Given the description of an element on the screen output the (x, y) to click on. 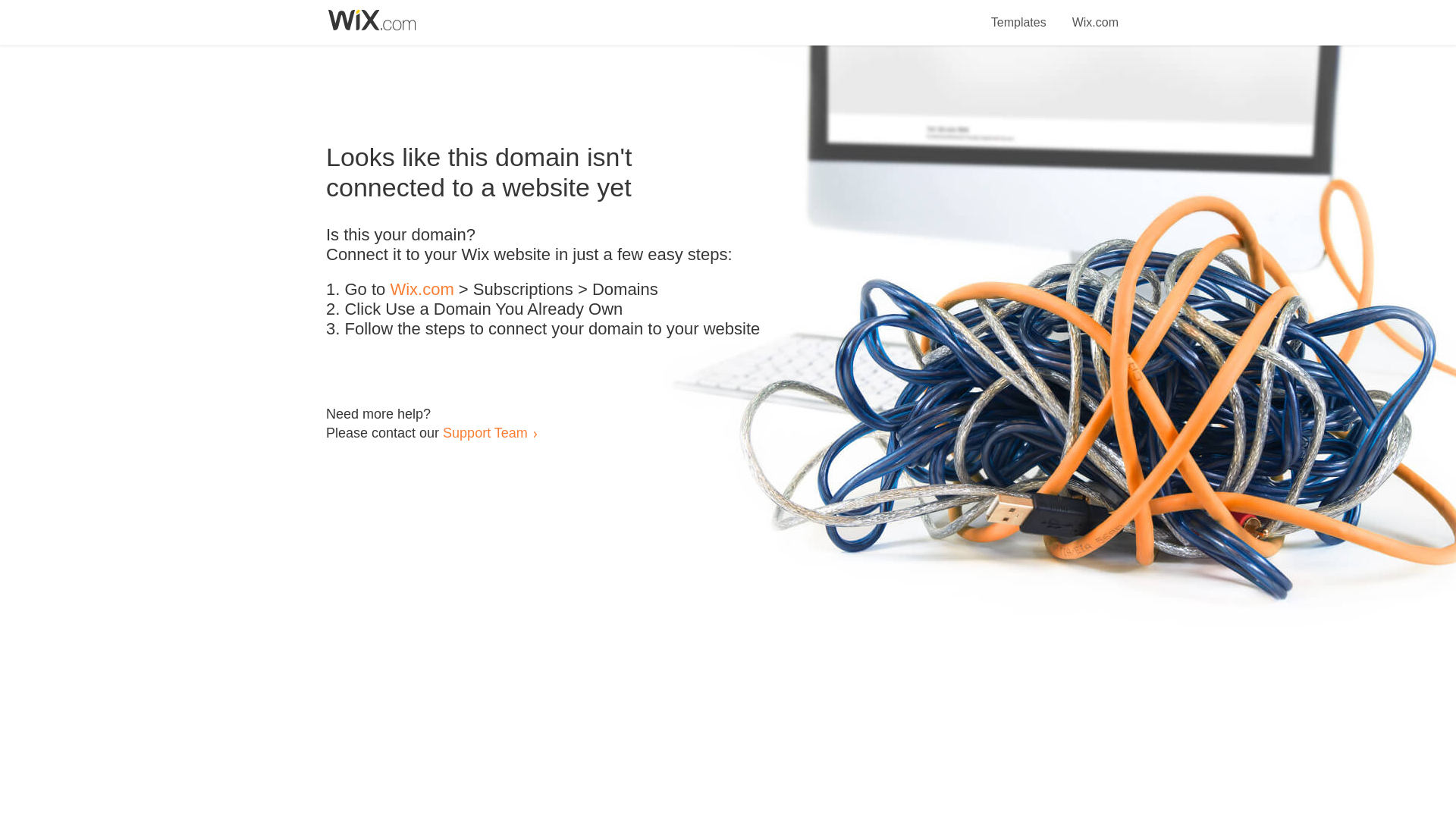
Templates (1018, 14)
Wix.com (421, 289)
Support Team (484, 432)
Wix.com (1095, 14)
